Given the description of an element on the screen output the (x, y) to click on. 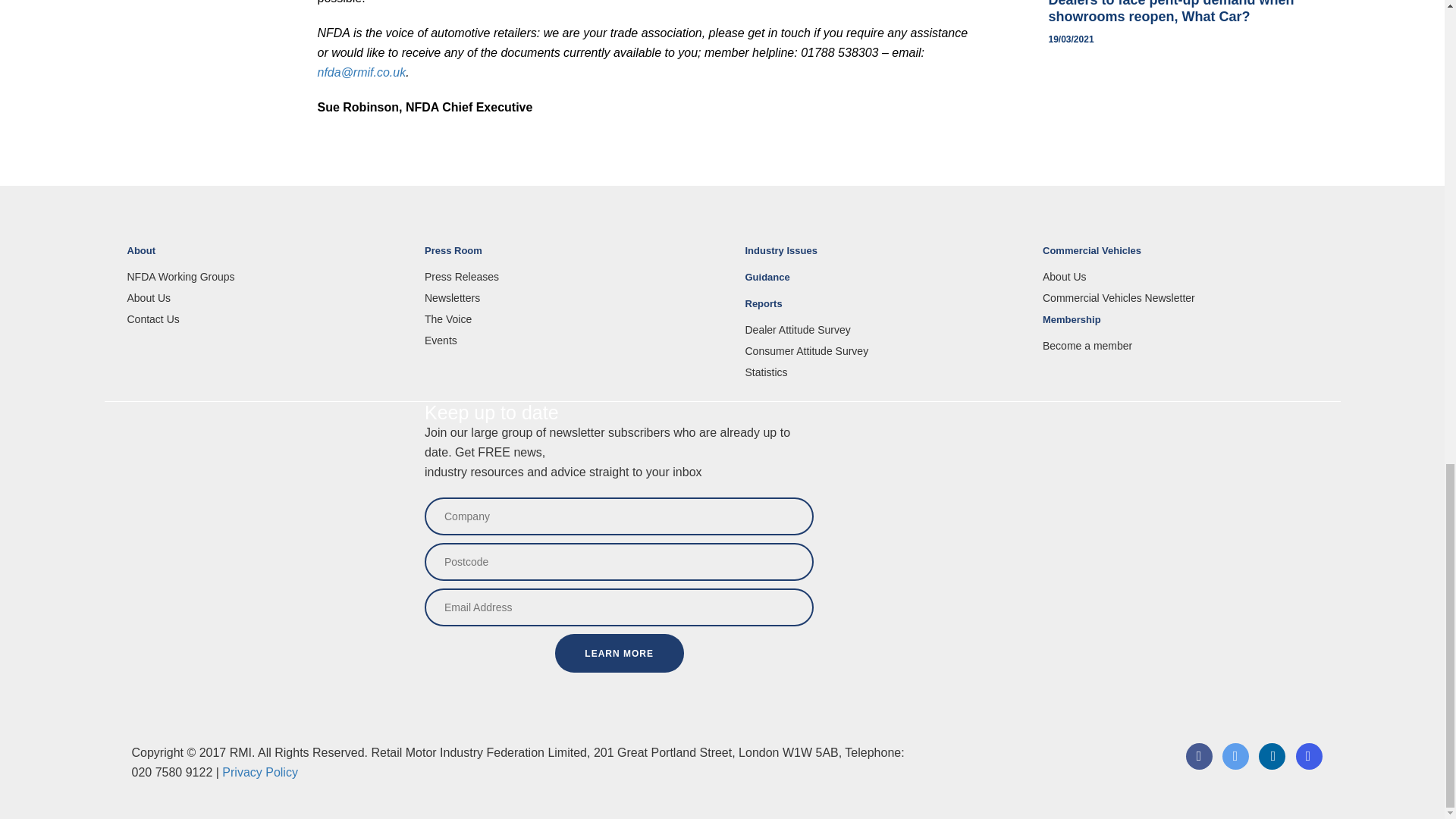
Dealer Attitude Survey (882, 329)
Events (562, 340)
Contact Us (265, 318)
Facebook (1198, 765)
Industry Issues (882, 257)
Instagram (1308, 765)
NFDA Working Groups (265, 276)
About Us (265, 297)
Twitter (1234, 765)
Reports (882, 310)
Guidance (882, 284)
The Voice (562, 318)
Newsletters (562, 297)
LinkedIn (1271, 765)
Press Releases (562, 276)
